Given the description of an element on the screen output the (x, y) to click on. 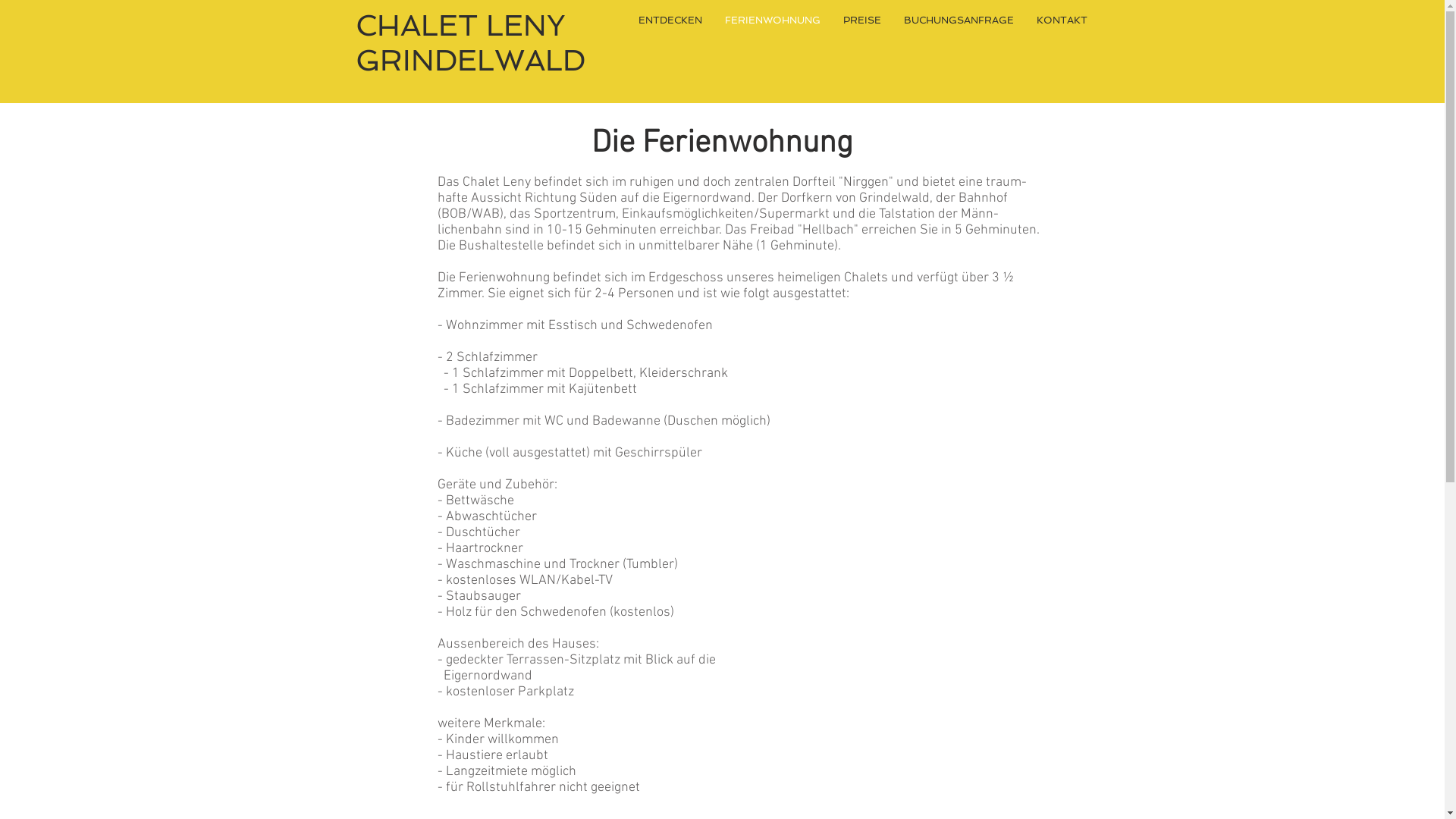
FERIENWOHNUNG Element type: text (771, 20)
KONTAKT Element type: text (1061, 20)
PREISE Element type: text (861, 20)
BUCHUNGSANFRAGE Element type: text (957, 20)
CHALET LENY GRINDELWALD Element type: text (469, 42)
ENTDECKEN Element type: text (669, 20)
